Given the description of an element on the screen output the (x, y) to click on. 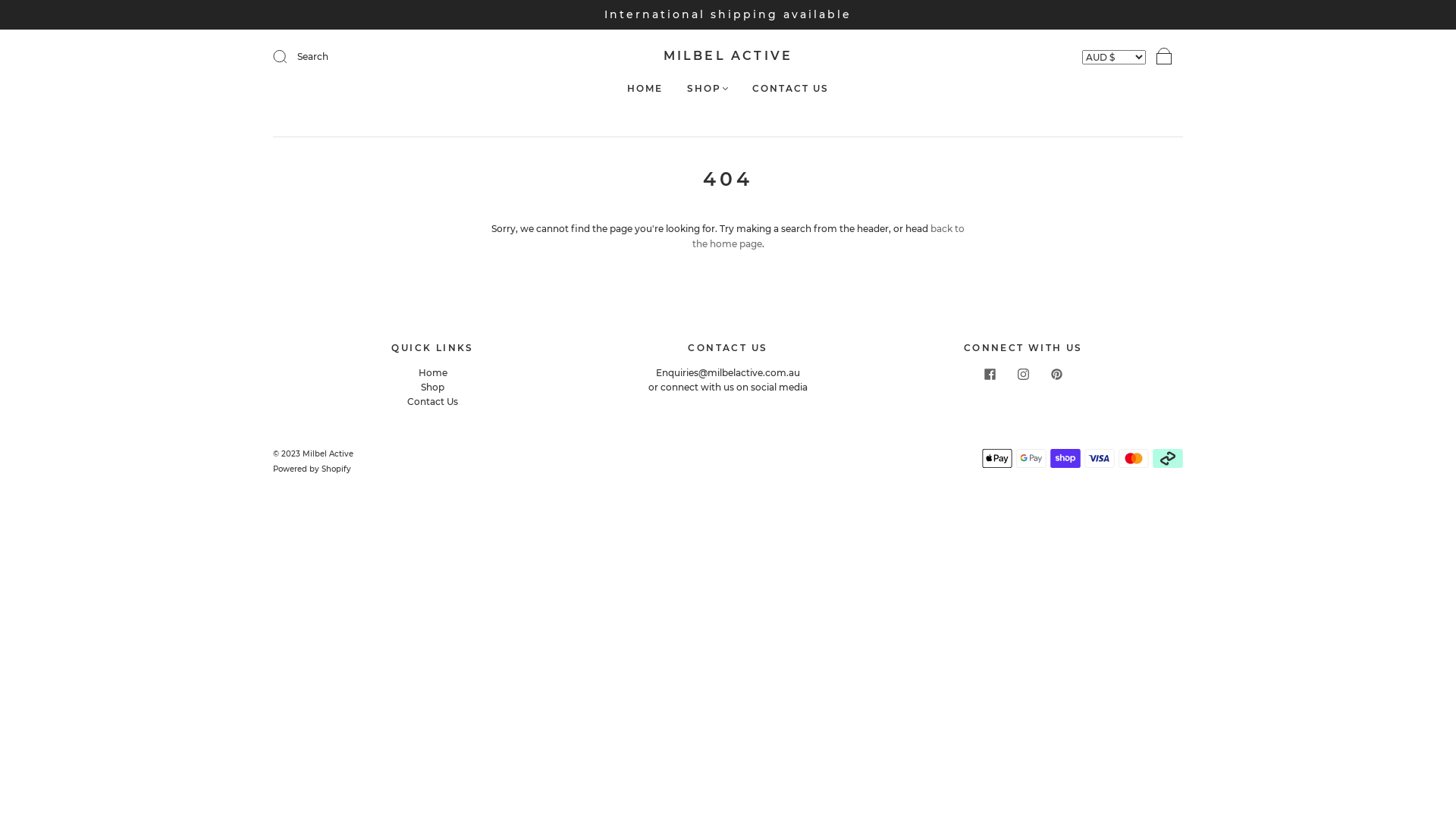
Milbel Active Element type: text (327, 453)
back to the home page Element type: text (827, 235)
Powered by Shopify Element type: text (312, 468)
CONTACT US Element type: text (790, 88)
SHOP Element type: text (707, 88)
MILBEL ACTIVE Element type: text (728, 55)
Contact Us Element type: text (432, 401)
HOME Element type: text (644, 88)
Home Element type: text (432, 372)
Shop Element type: text (432, 386)
